Given the description of an element on the screen output the (x, y) to click on. 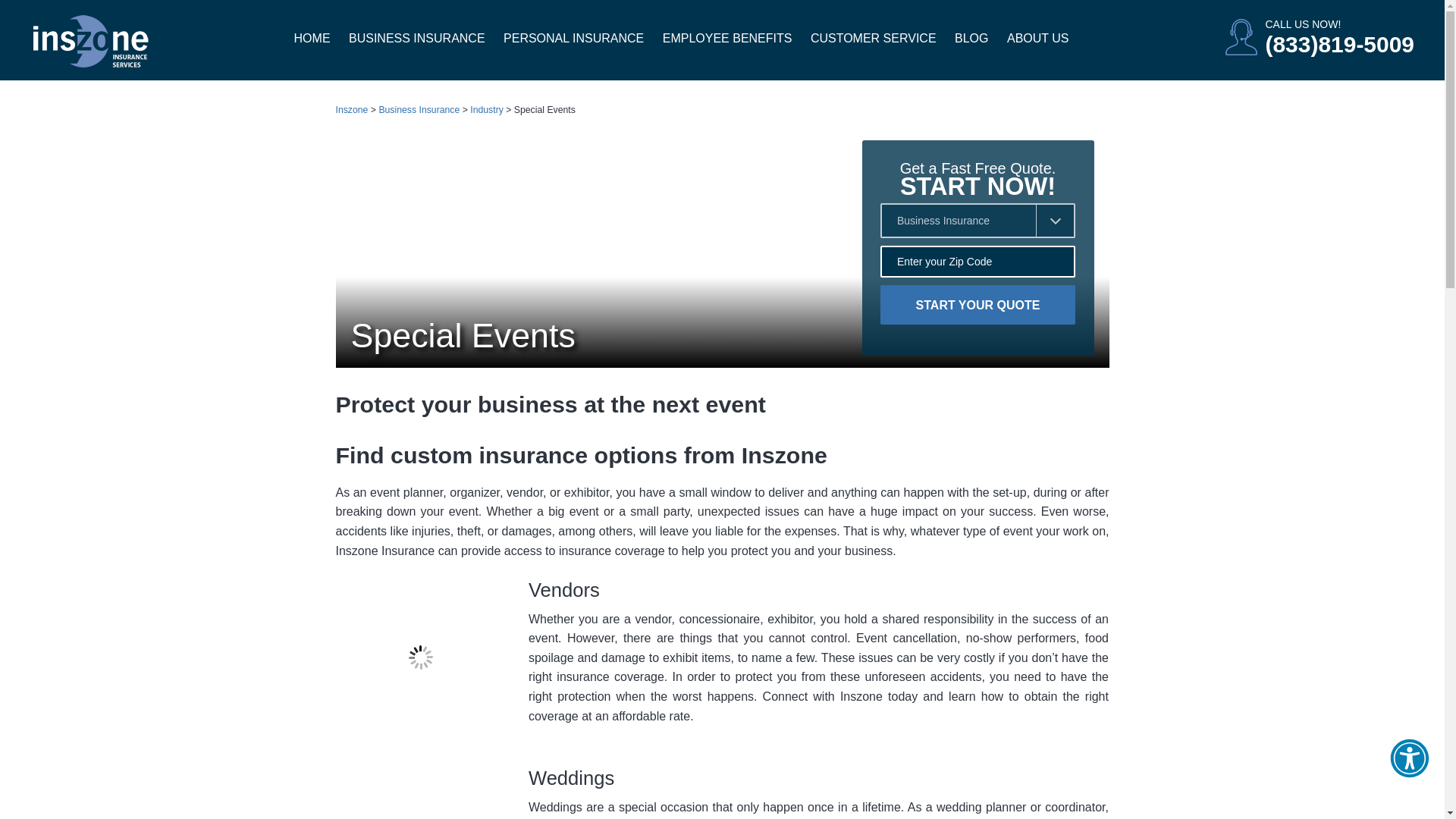
Business Insurance (419, 110)
PERSONAL INSURANCE (573, 39)
BUSINESS INSURANCE (416, 39)
Inszone Insurance (90, 41)
Industry (486, 110)
Inszone Insurance (90, 41)
